Given the description of an element on the screen output the (x, y) to click on. 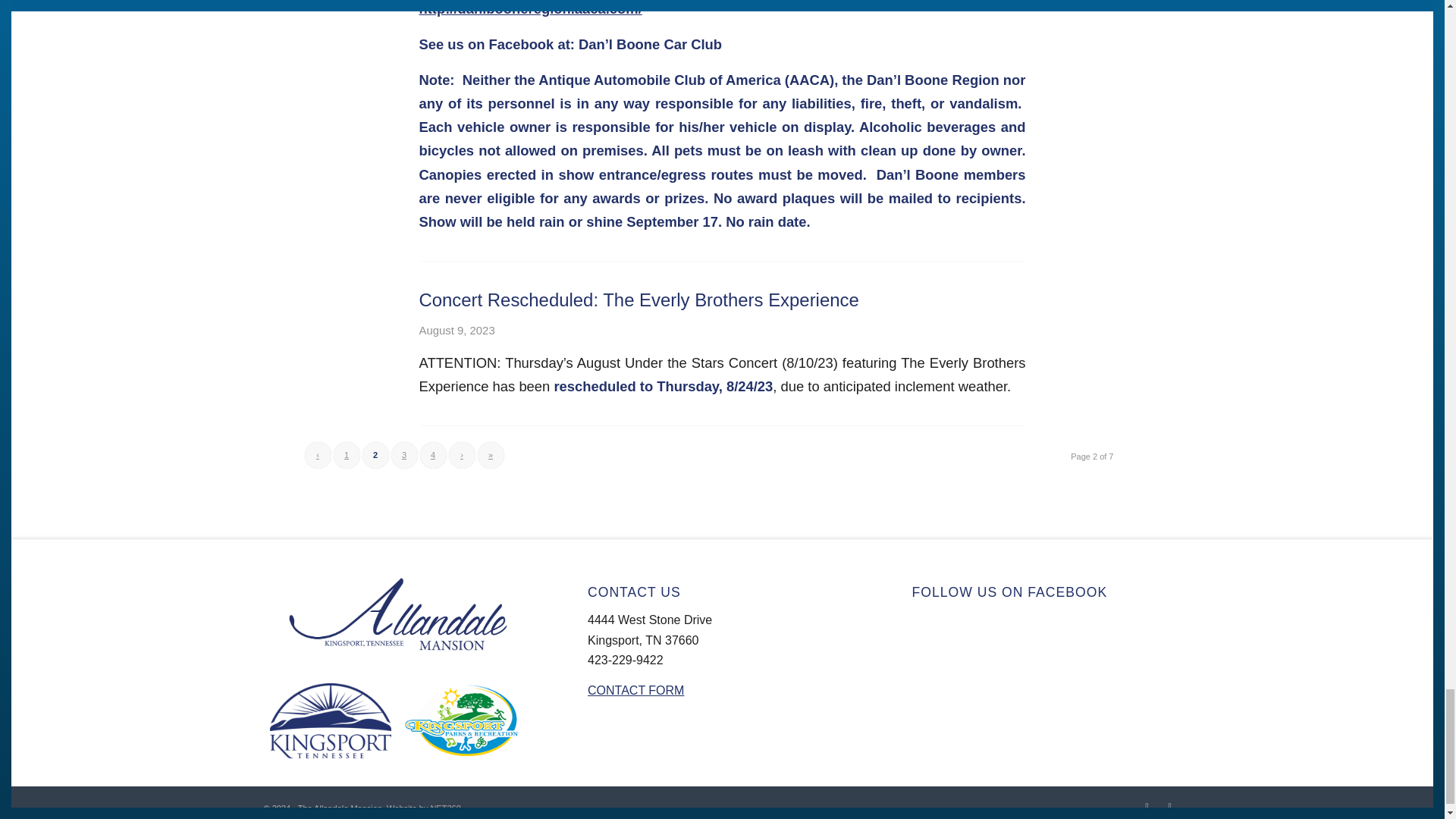
Facebook (1146, 805)
Instagram (1169, 805)
